Given the description of an element on the screen output the (x, y) to click on. 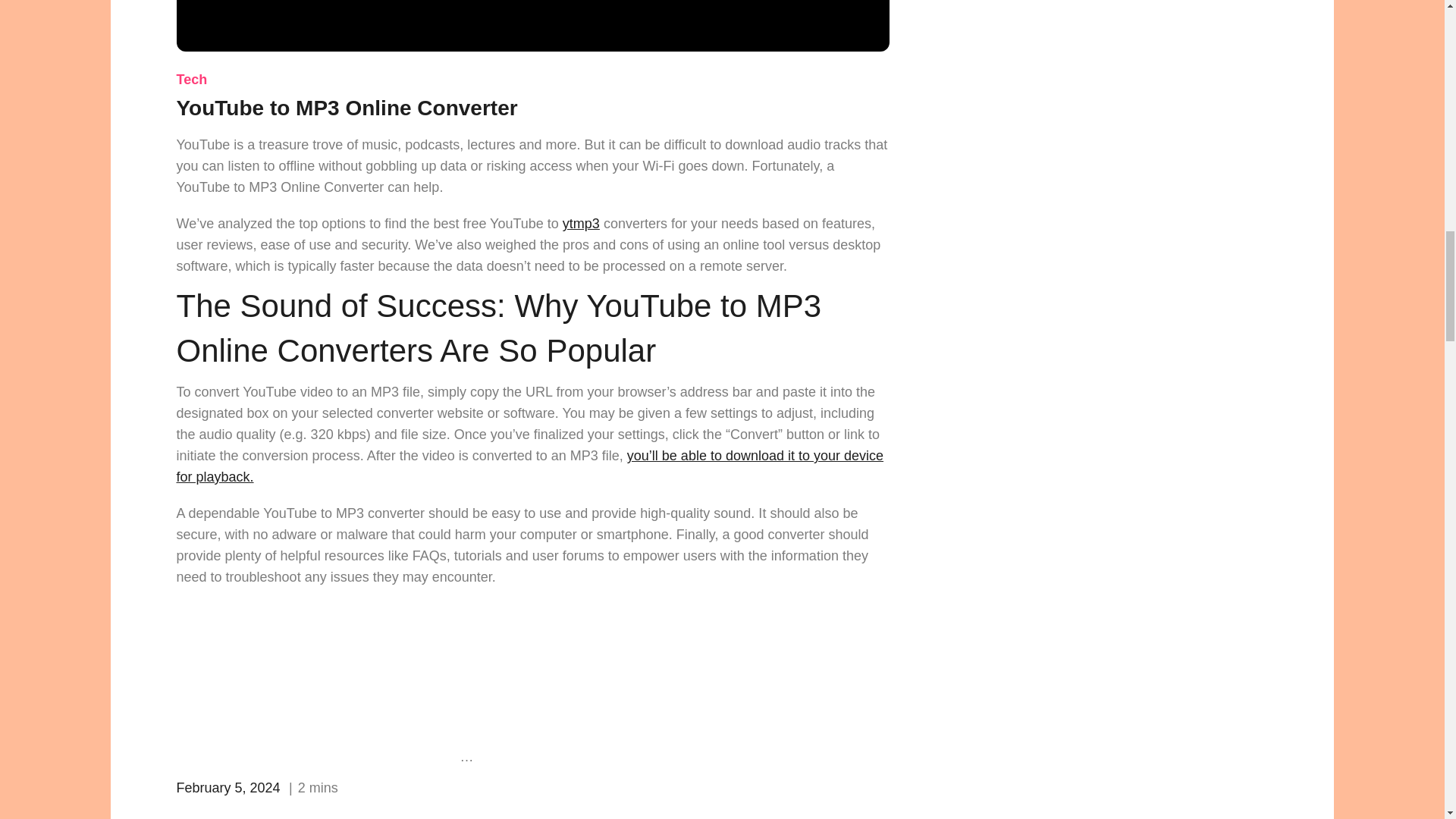
YouTube to MP3 Online Converter (346, 107)
February 5, 2024 (227, 787)
Tech (191, 79)
YouTube to MP3 Online Converter (532, 25)
ytmp3 (580, 223)
